Given the description of an element on the screen output the (x, y) to click on. 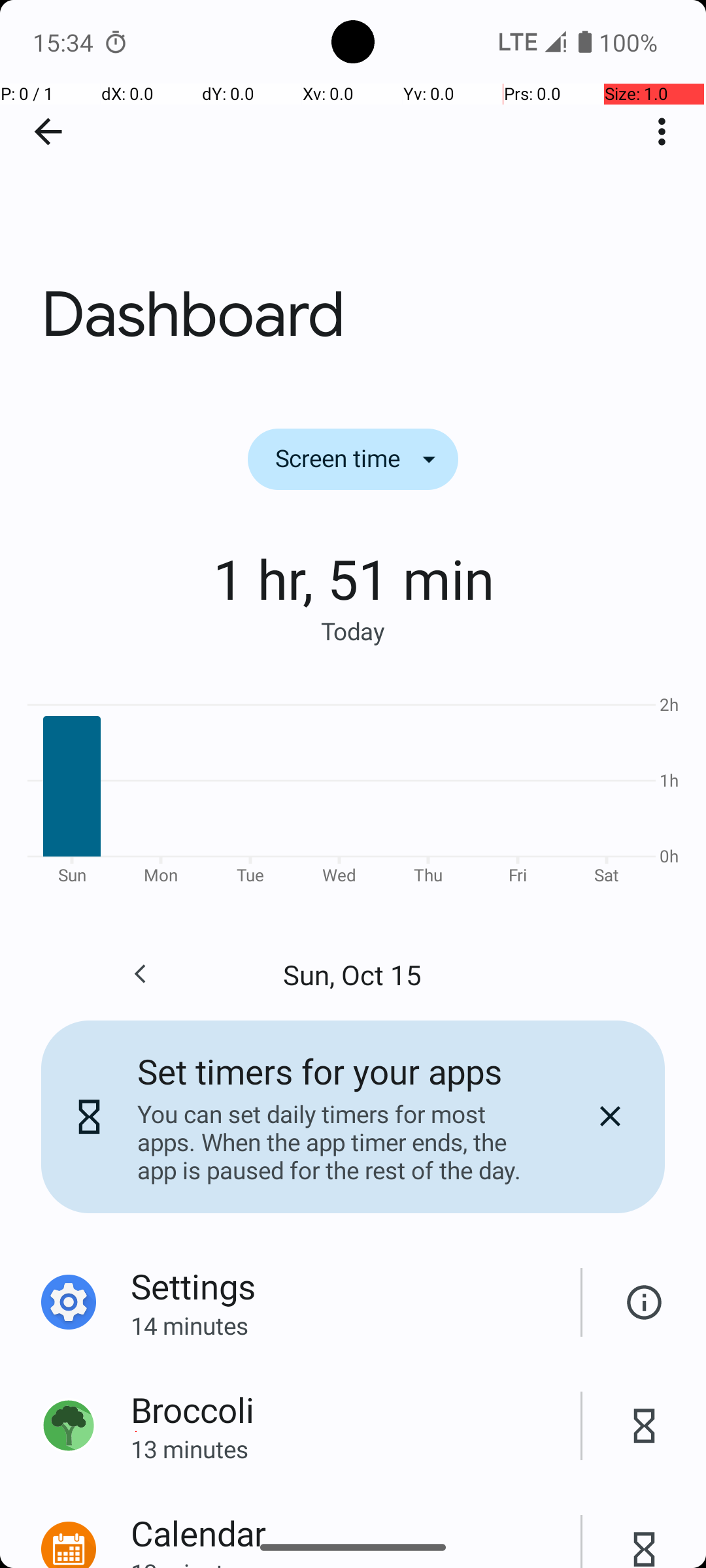
Dashboard Element type: android.widget.FrameLayout (353, 195)
1 hr, 51 min Element type: android.widget.TextView (353, 577)
Set timers for your apps Element type: android.widget.TextView (319, 1070)
You can set daily timers for most apps. When the app timer ends, the app is paused for the rest of the day. Element type: android.widget.TextView (339, 1141)
Dismiss card Element type: android.widget.Button (609, 1116)
14 minutes Element type: android.widget.TextView (355, 1325)
Can't set timer Element type: android.widget.FrameLayout (644, 1302)
13 minutes Element type: android.widget.TextView (355, 1448)
No timer set for Broccoli Element type: android.widget.FrameLayout (644, 1425)
No timer set for Calendar Element type: android.widget.FrameLayout (644, 1534)
Bar Chart. Showing Phone usage data with 7 data points. Element type: android.view.ViewGroup (353, 787)
